Given the description of an element on the screen output the (x, y) to click on. 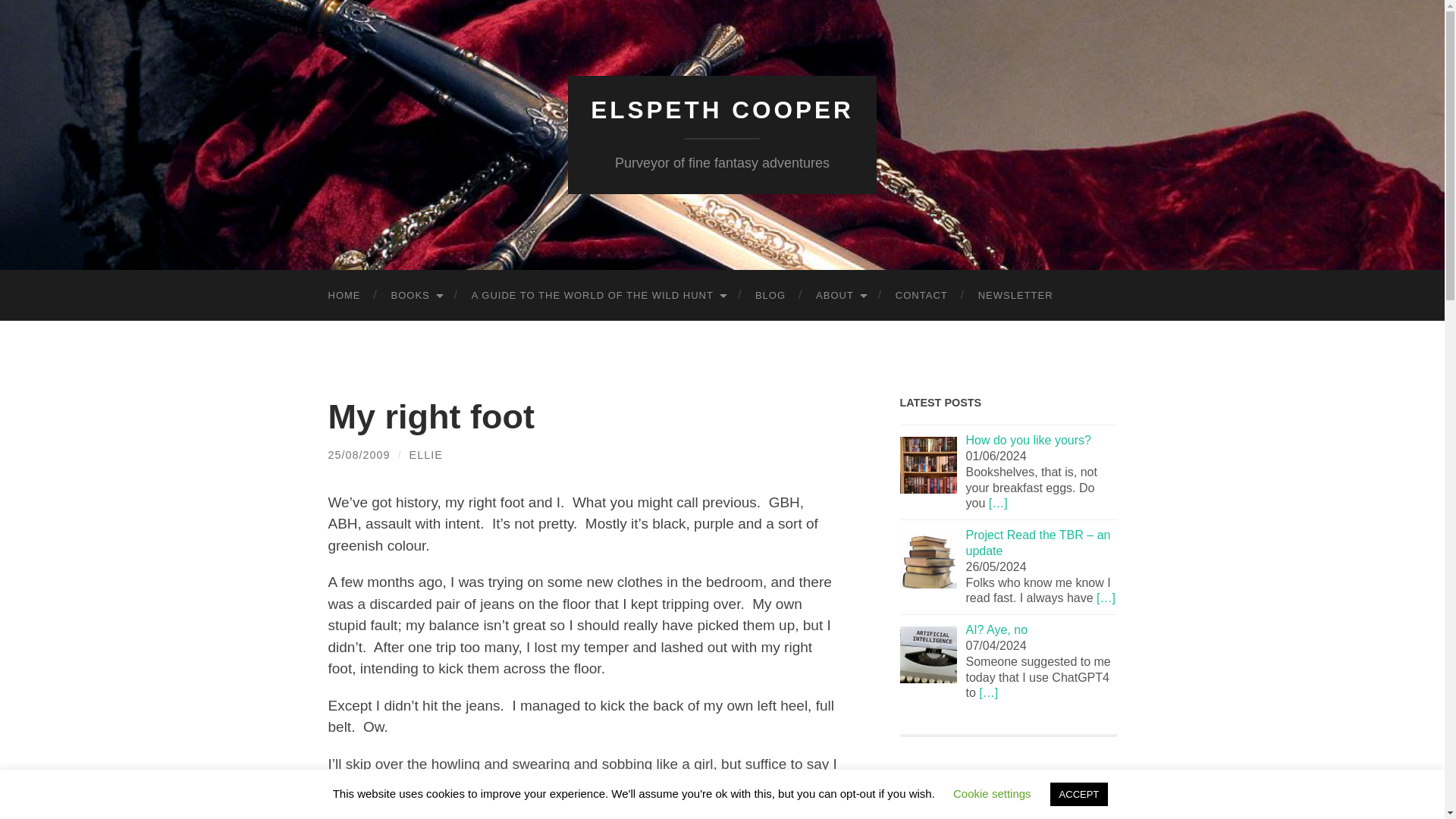
Instagram (944, 808)
Posts by Ellie (425, 454)
Facebook (914, 808)
NEWSLETTER (1015, 295)
BLOG (769, 295)
Bluesky (974, 808)
ABOUT (840, 295)
BOOKS (416, 295)
HOME (344, 295)
ELSPETH COOPER (722, 109)
A GUIDE TO THE WORLD OF THE WILD HUNT (598, 295)
Twitter (1005, 808)
CONTACT (921, 295)
